Given the description of an element on the screen output the (x, y) to click on. 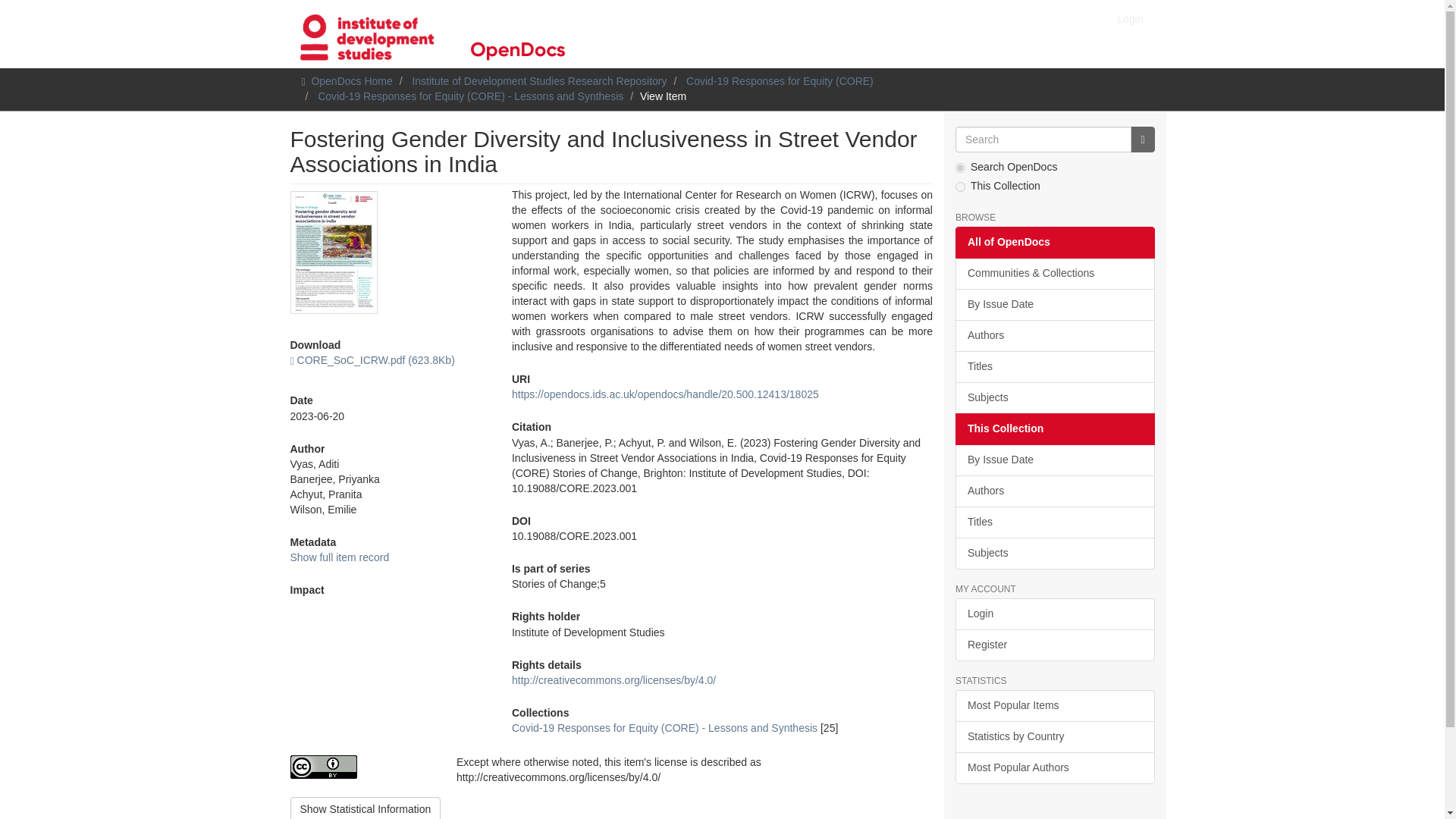
Titles (1054, 367)
Login (1129, 18)
Titles (1054, 522)
Authors (1054, 490)
Show Statistical Information (365, 807)
Institute of Development Studies Research Repository (539, 80)
By Issue Date (1054, 459)
Show full item record (338, 557)
All of OpenDocs (1054, 242)
Authors (1054, 336)
Subjects (1054, 398)
OpenDocs Home (351, 80)
By Issue Date (1054, 305)
This Collection (1054, 429)
Go (1142, 139)
